Given the description of an element on the screen output the (x, y) to click on. 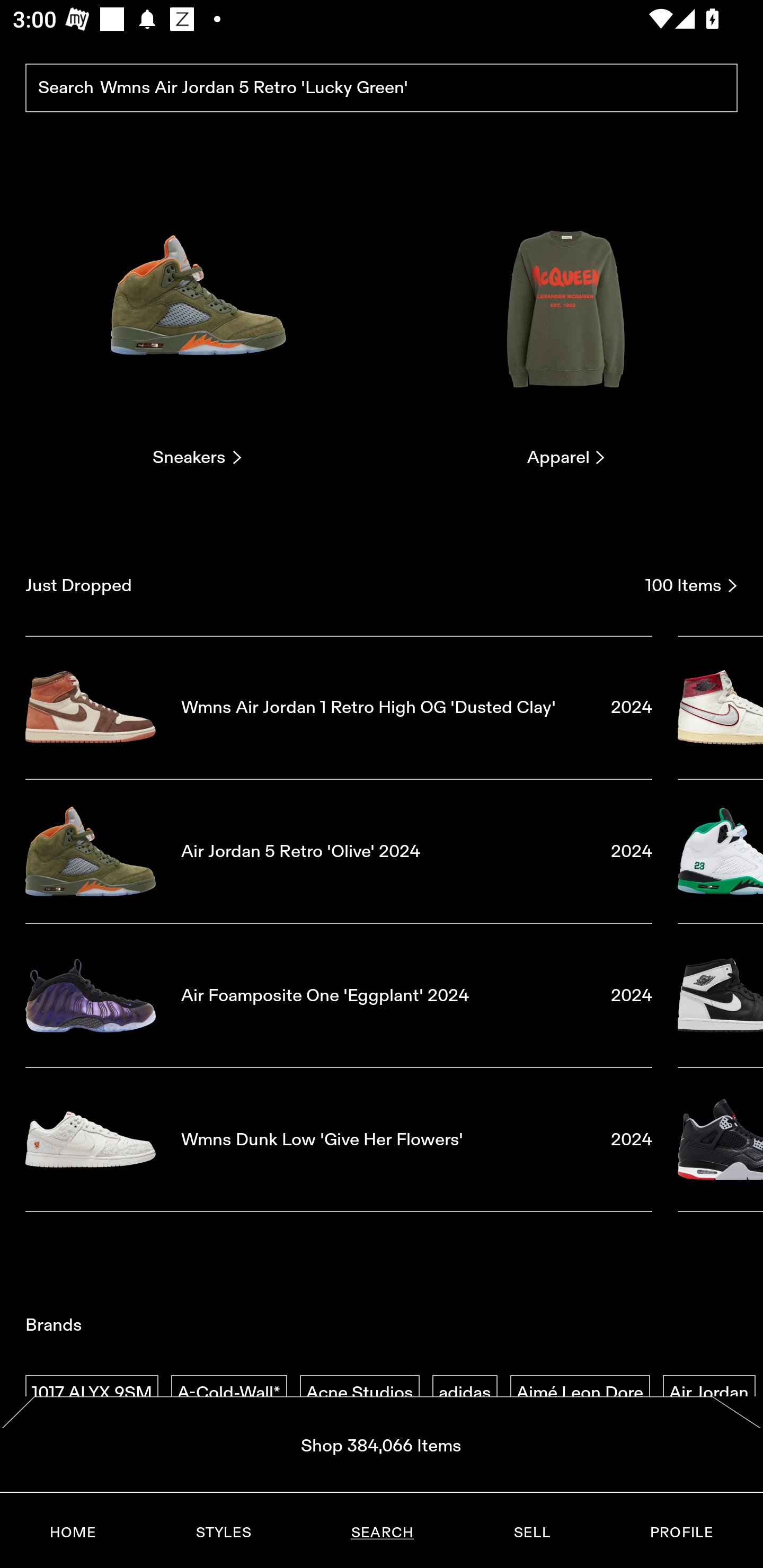
Search (381, 88)
Sneakers (196, 323)
Apparel (565, 323)
Just Dropped (328, 585)
100 Items (691, 585)
Wmns Air Jordan 1 Retro High OG 'Dusted Clay' 2024 (338, 707)
Air Jordan 5 Retro 'Olive' 2024 2024 (338, 851)
Air Foamposite One 'Eggplant' 2024 2024 (338, 995)
Wmns Dunk Low 'Give Her Flowers' 2024 (338, 1139)
1017 ALYX 9SM (91, 1393)
A-Cold-Wall* (228, 1393)
Acne Studios (359, 1393)
adidas (464, 1393)
Aimé Leon Dore (580, 1393)
Air Jordan (709, 1393)
HOME (72, 1532)
STYLES (222, 1532)
SEARCH (381, 1532)
SELL (531, 1532)
PROFILE (681, 1532)
